Given the description of an element on the screen output the (x, y) to click on. 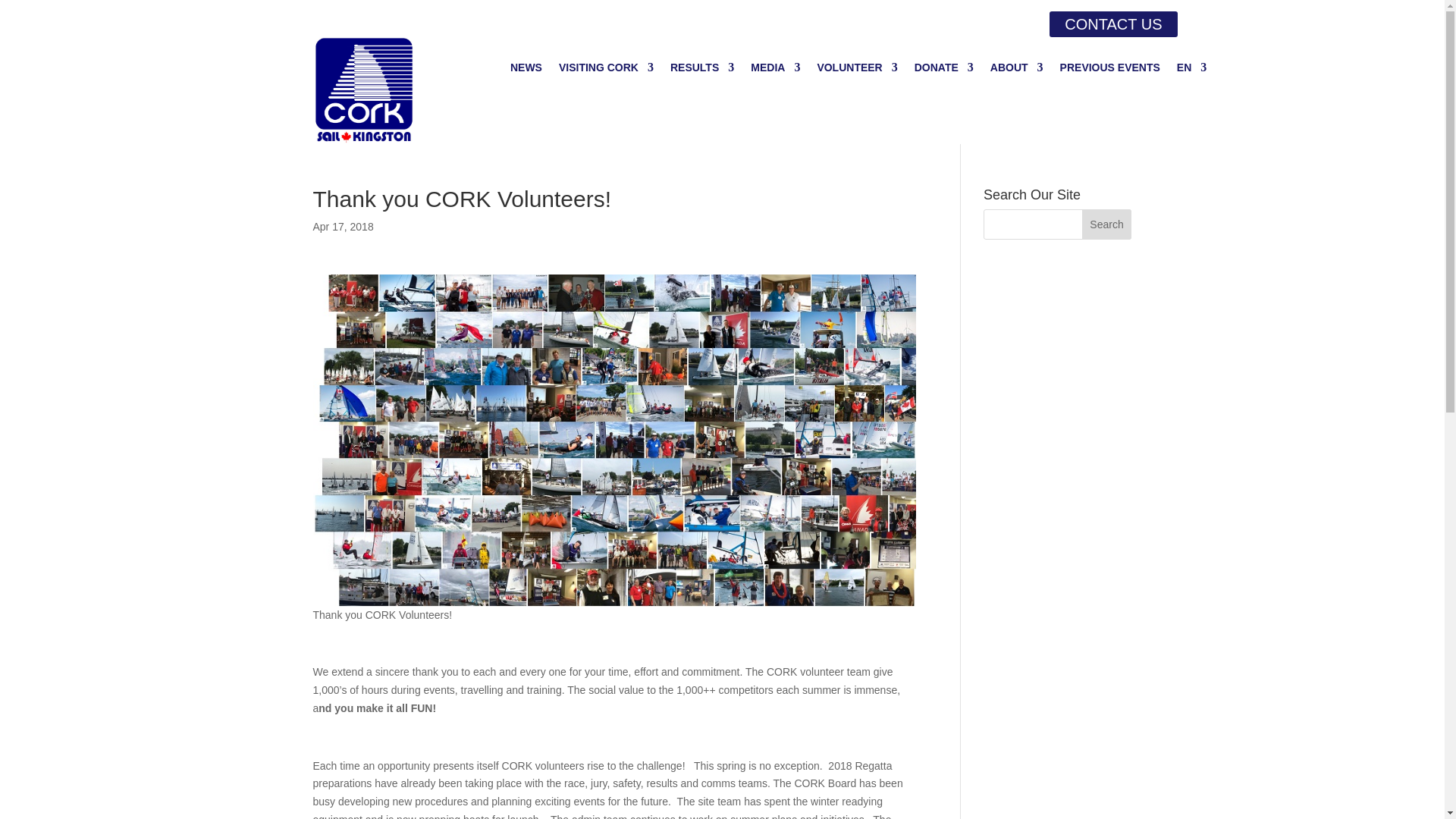
Search (1106, 224)
CONTACT US (1112, 23)
PREVIOUS EVENTS (1109, 70)
MEDIA (775, 70)
NEWS (526, 70)
RESULTS (701, 70)
CORK Sail Kingston Logo (363, 90)
ABOUT (1016, 70)
DONATE (944, 70)
VOLUNTEER (856, 70)
VISITING CORK (606, 70)
